Given the description of an element on the screen output the (x, y) to click on. 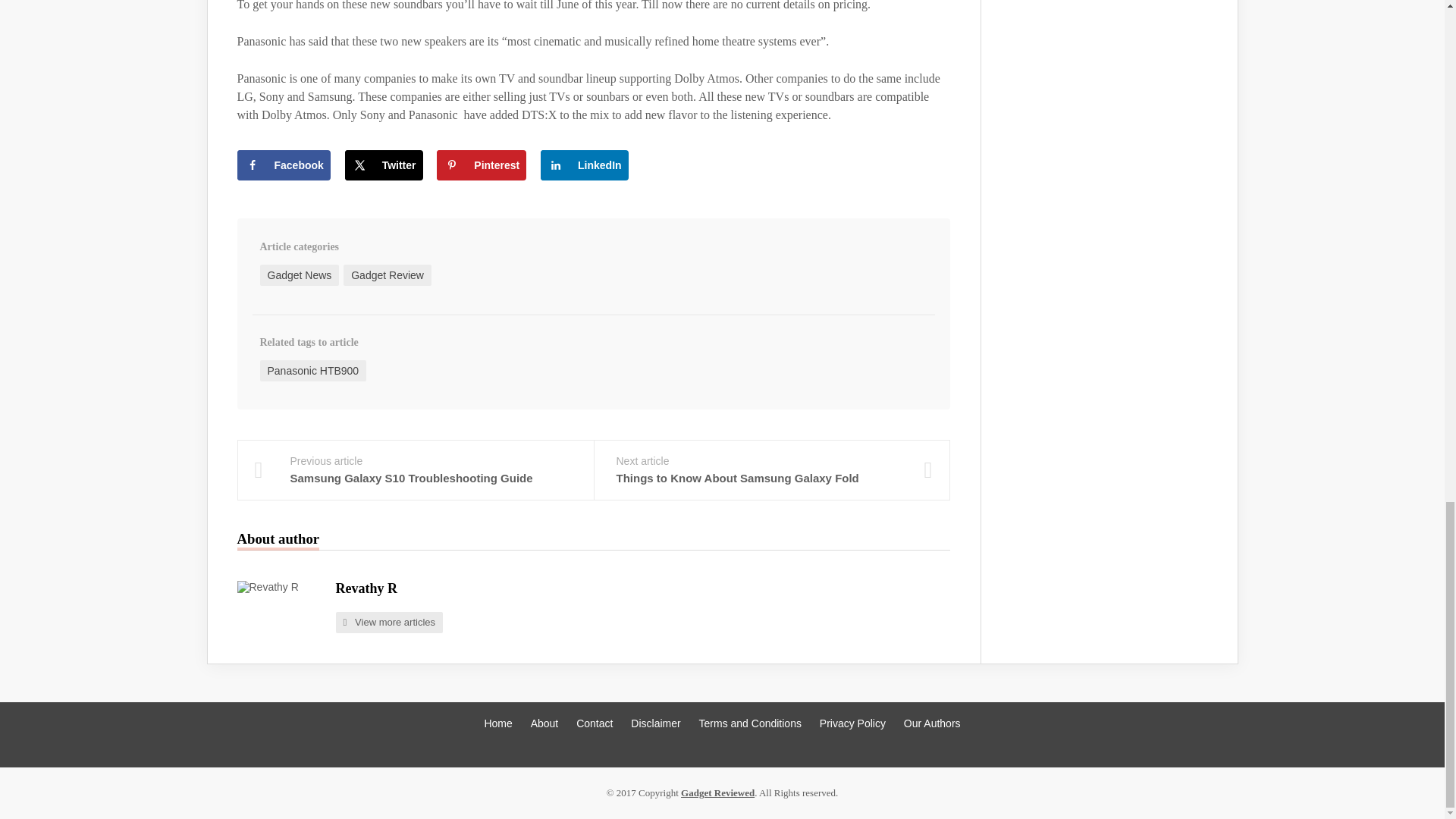
Share on Facebook (282, 164)
Share on X (384, 164)
Share on LinkedIn (584, 164)
Save to Pinterest (480, 164)
